Given the description of an element on the screen output the (x, y) to click on. 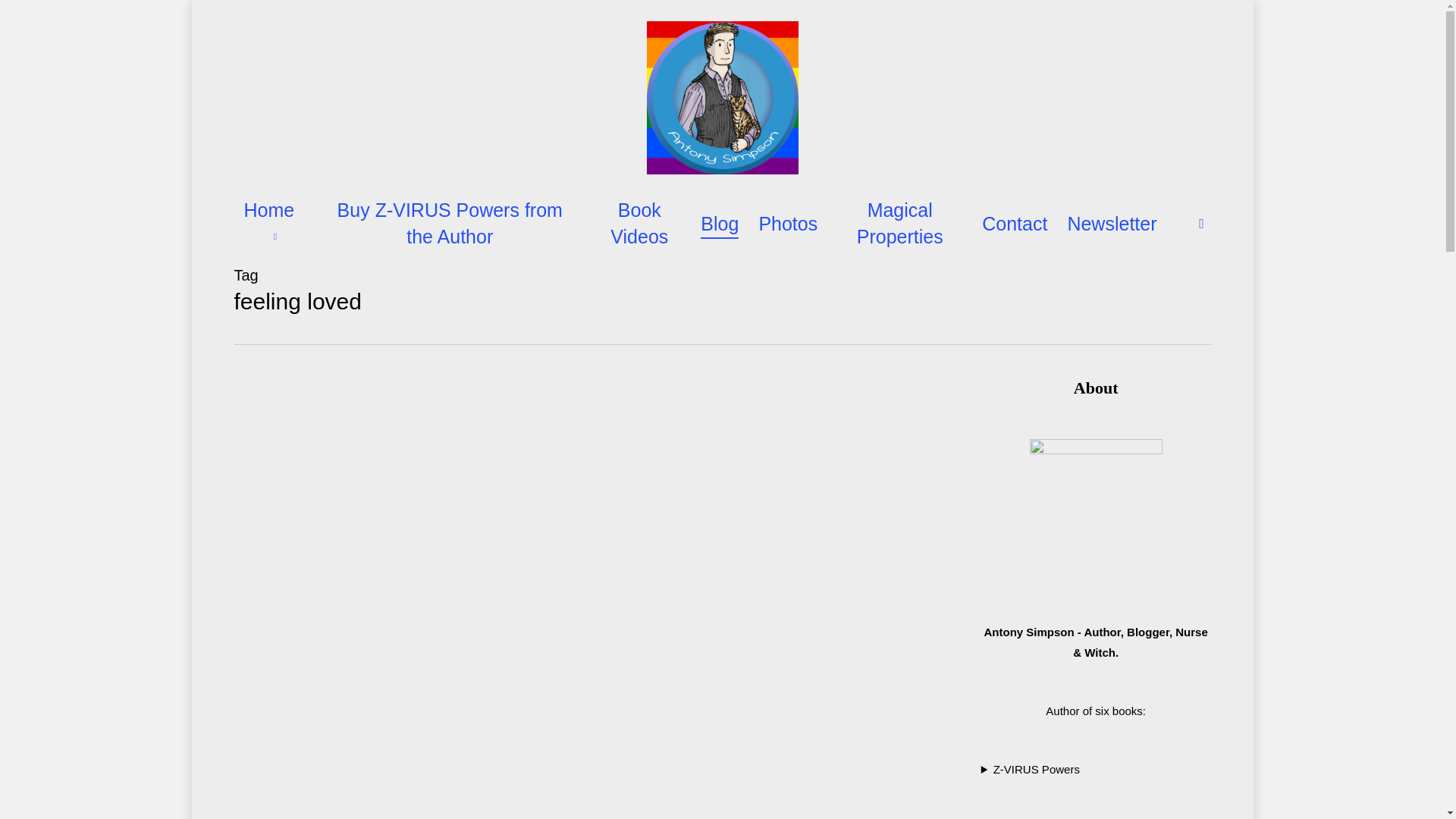
Newsletter (1111, 223)
Contact (1013, 223)
Magical Properties (899, 223)
search (1200, 223)
Blog (719, 223)
Home (273, 223)
Photos (787, 223)
Buy Z-VIRUS Powers from the Author (449, 223)
Book Videos (638, 223)
